Given the description of an element on the screen output the (x, y) to click on. 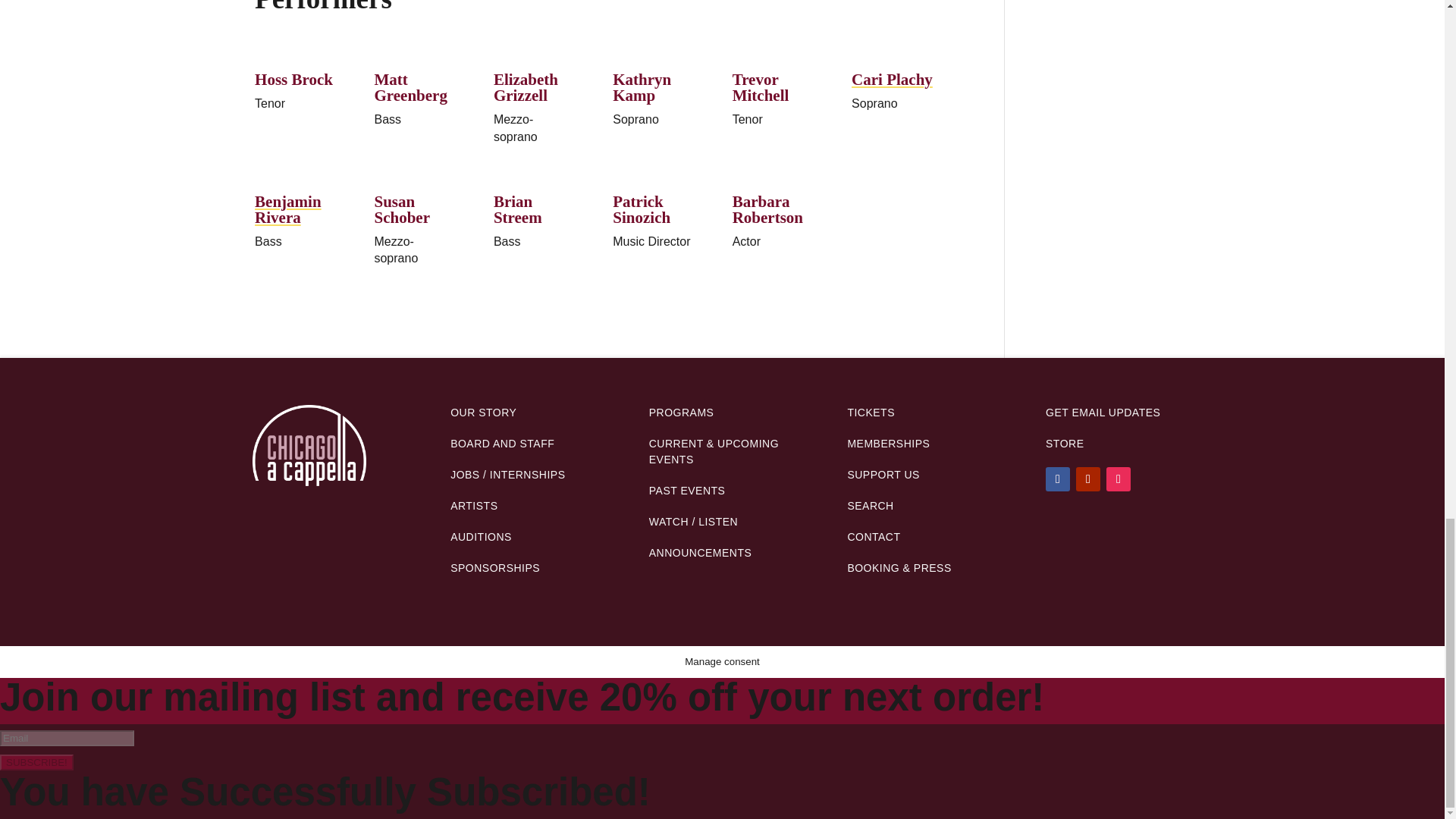
Follow on Youtube (1087, 478)
Follow on Facebook (1057, 478)
Follow on Instagram (1118, 478)
